Given the description of an element on the screen output the (x, y) to click on. 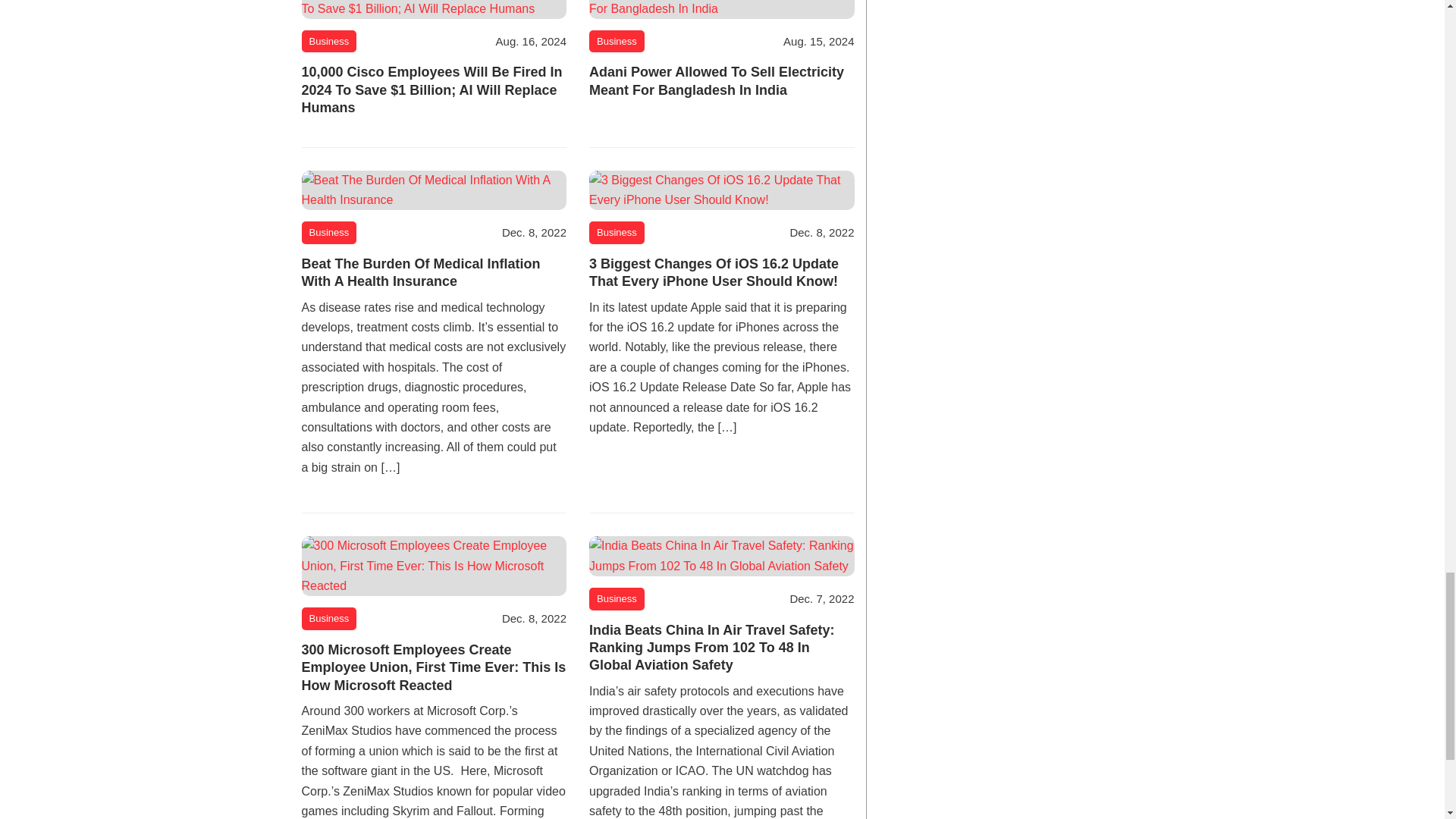
Object (617, 41)
Business (617, 232)
Business (617, 599)
Business (328, 618)
Object (328, 41)
Business (328, 232)
